Given the description of an element on the screen output the (x, y) to click on. 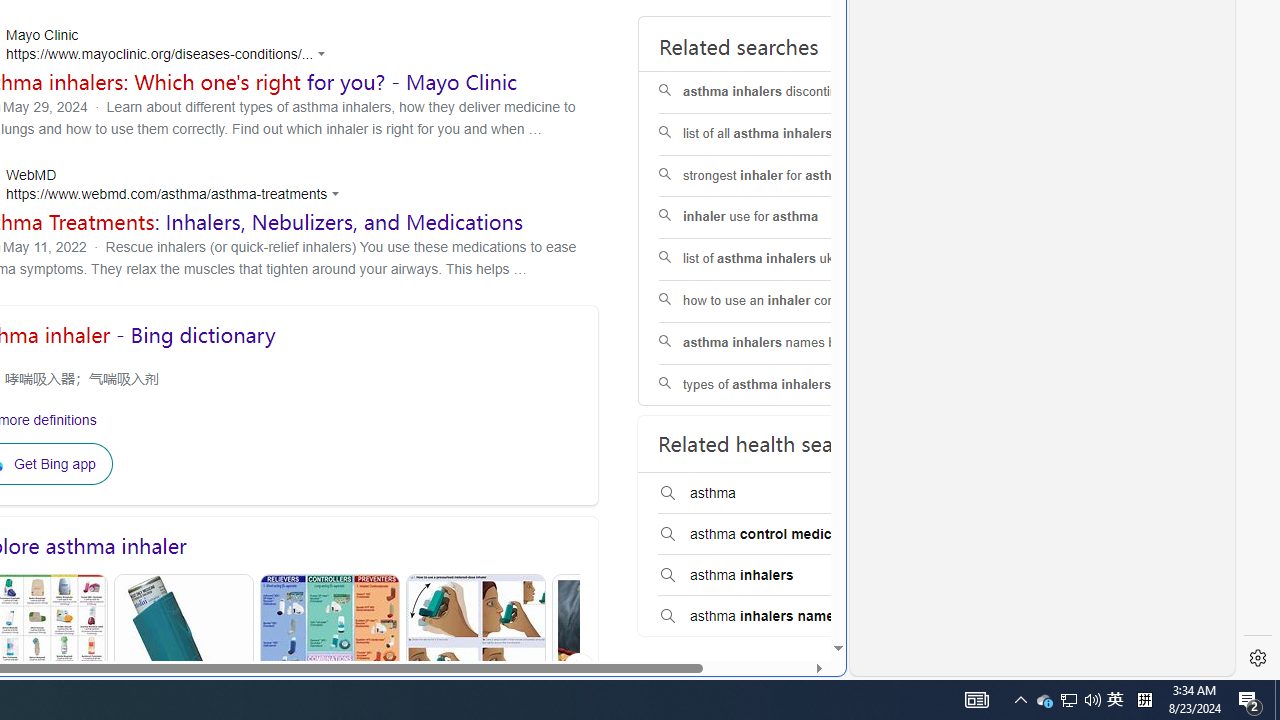
list of all asthma inhalers (785, 133)
strongest inhaler for asthma (785, 176)
list of all asthma inhalers (785, 134)
types of asthma inhalers pictures (785, 385)
strongest inhaler for asthma (785, 175)
asthma control medicine (785, 534)
asthma inhalers names (785, 616)
list of asthma inhalers uk (785, 259)
AutomationID: mfa_root (762, 588)
types of asthma inhalers pictures (785, 385)
asthma inhalers discontinued (785, 92)
asthma inhalers (785, 575)
list of asthma inhalers uk (785, 259)
